Given the description of an element on the screen output the (x, y) to click on. 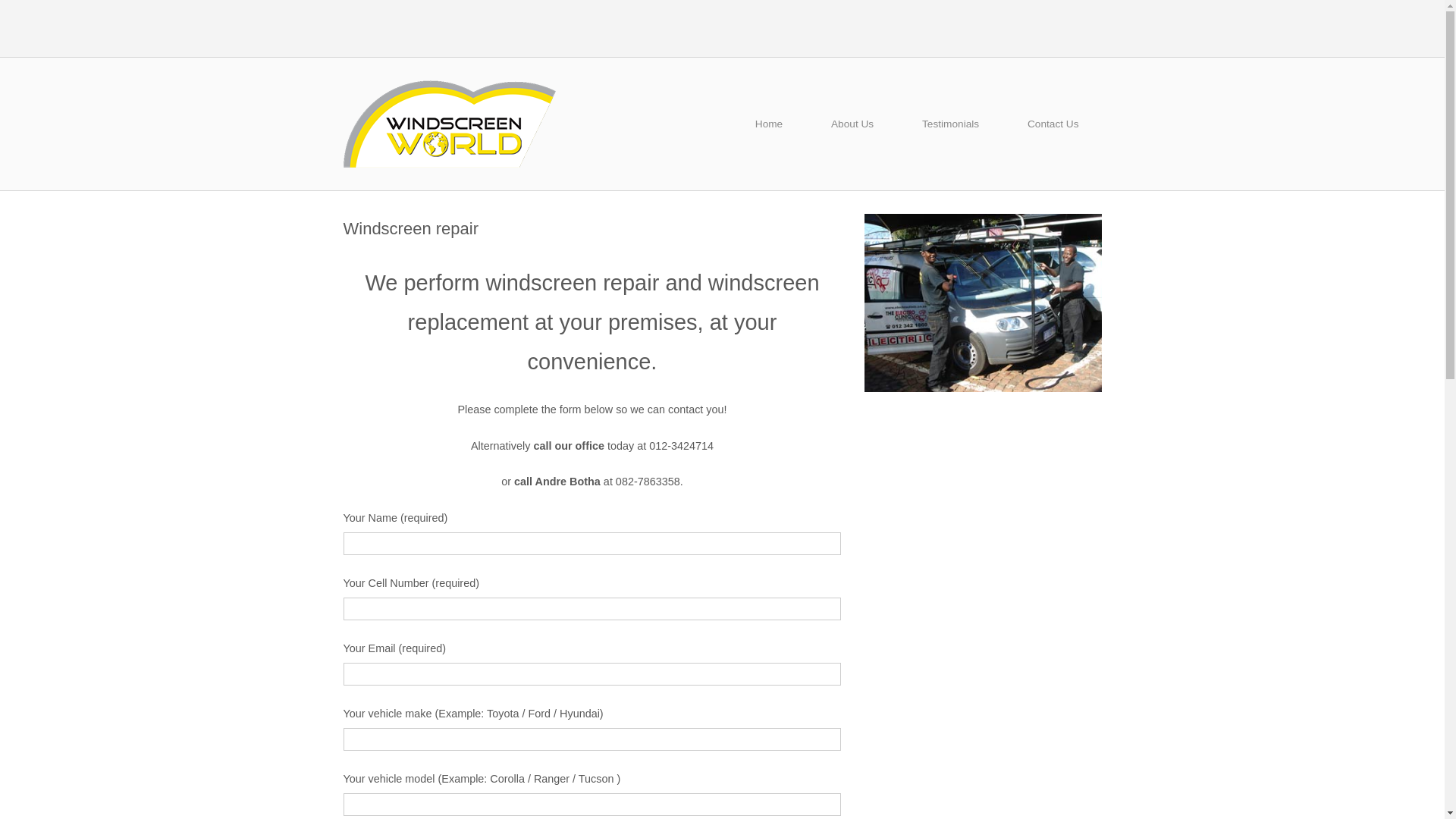
Testimonials (950, 124)
Home (768, 124)
Home (448, 122)
Contact Us (1053, 124)
About Us (852, 124)
Windscreen replacement at your premises (983, 302)
